Given the description of an element on the screen output the (x, y) to click on. 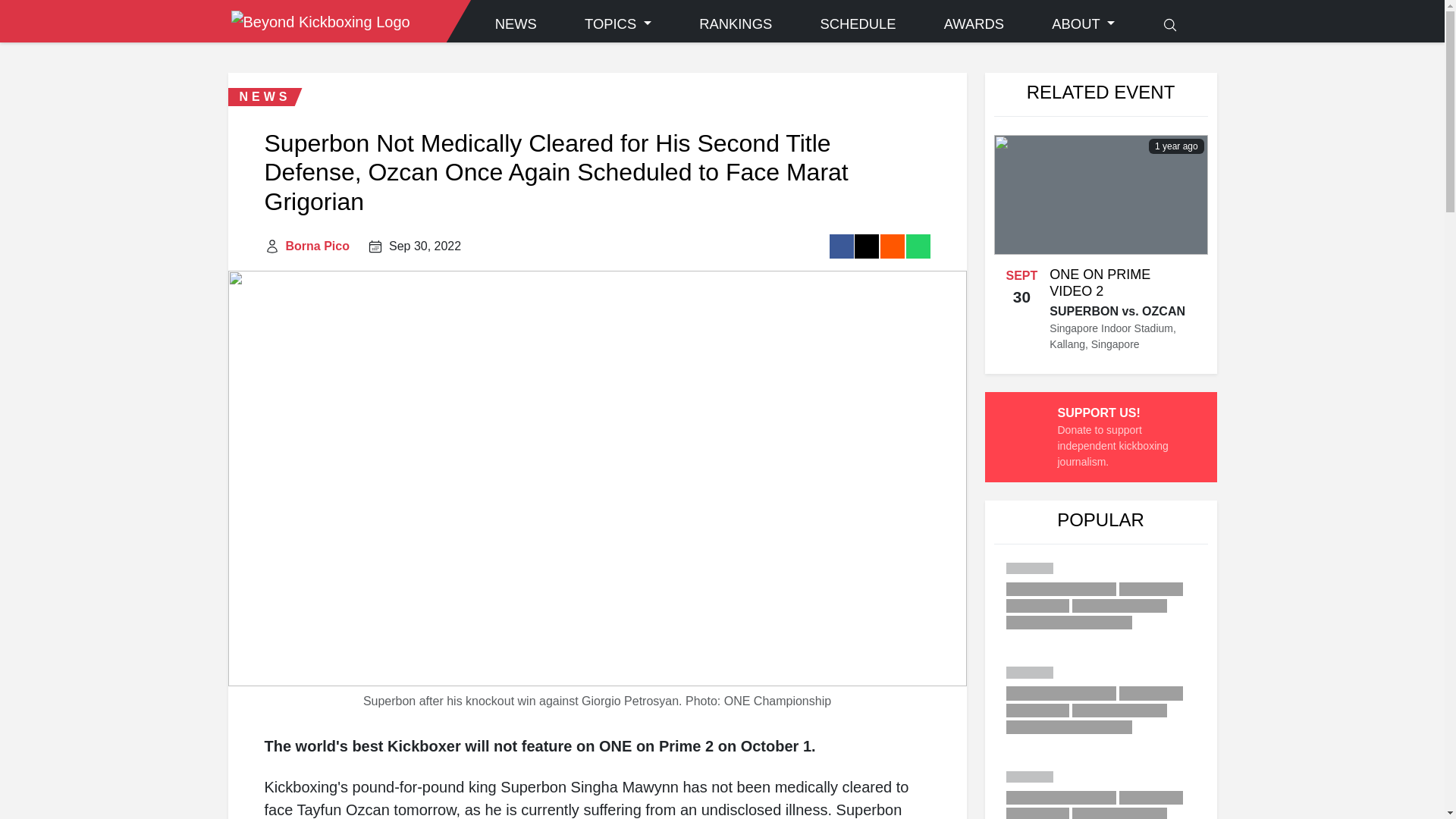
SCHEDULE (857, 23)
TOPICS (617, 23)
Borna Pico (317, 245)
AWARDS (973, 23)
NEWS (515, 23)
RANKINGS (735, 23)
ABOUT (1082, 23)
